Given the description of an element on the screen output the (x, y) to click on. 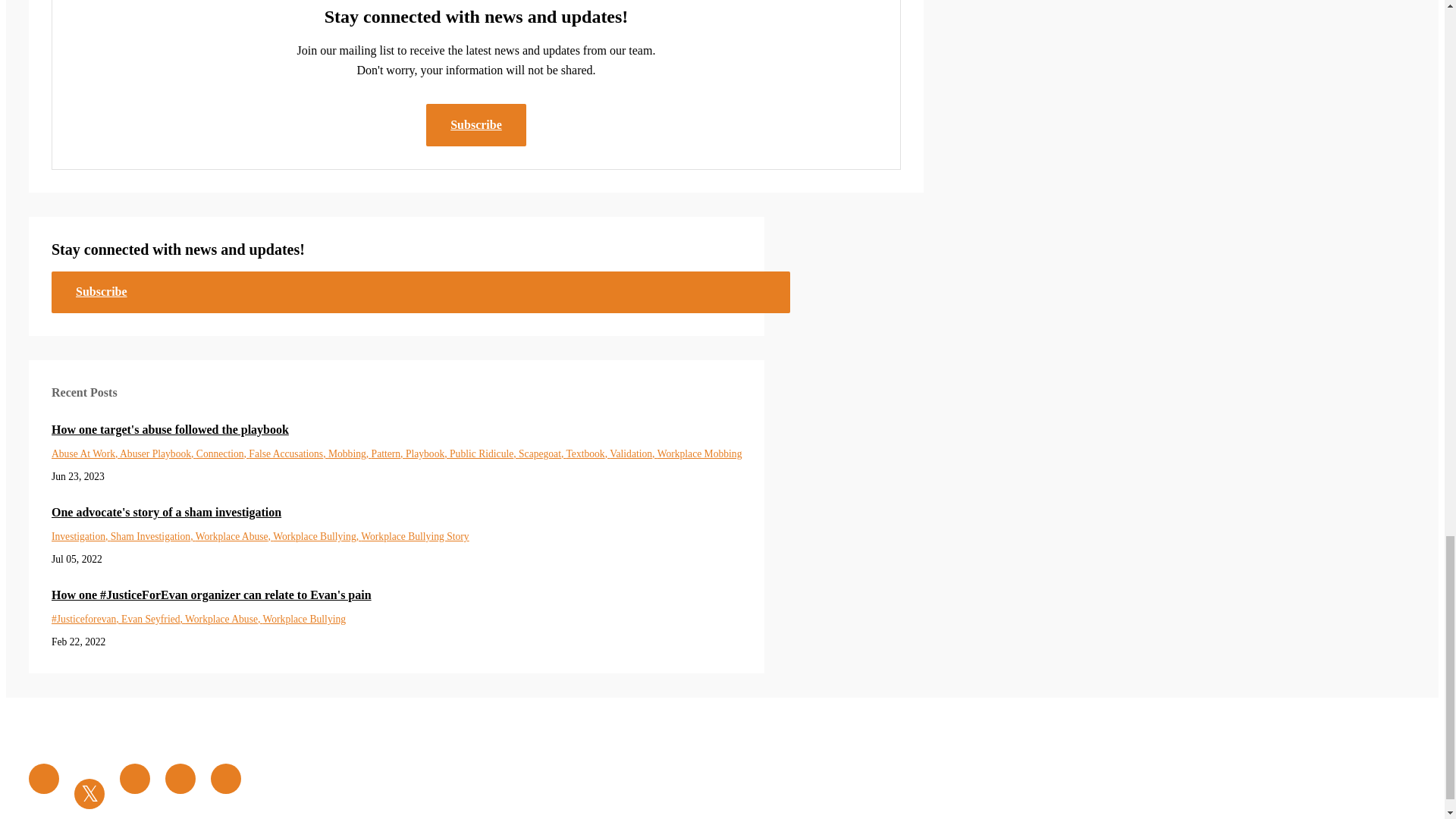
Workplace Bullying Story (414, 536)
Mobbing (350, 453)
Abuser Playbook (157, 453)
One advocate's story of a sham investigation (395, 512)
Workplace Bullying (317, 536)
Scapegoat (542, 453)
Subscribe (420, 291)
Workplace Abuse (234, 536)
False Accusations (288, 453)
Playbook (427, 453)
